Given the description of an element on the screen output the (x, y) to click on. 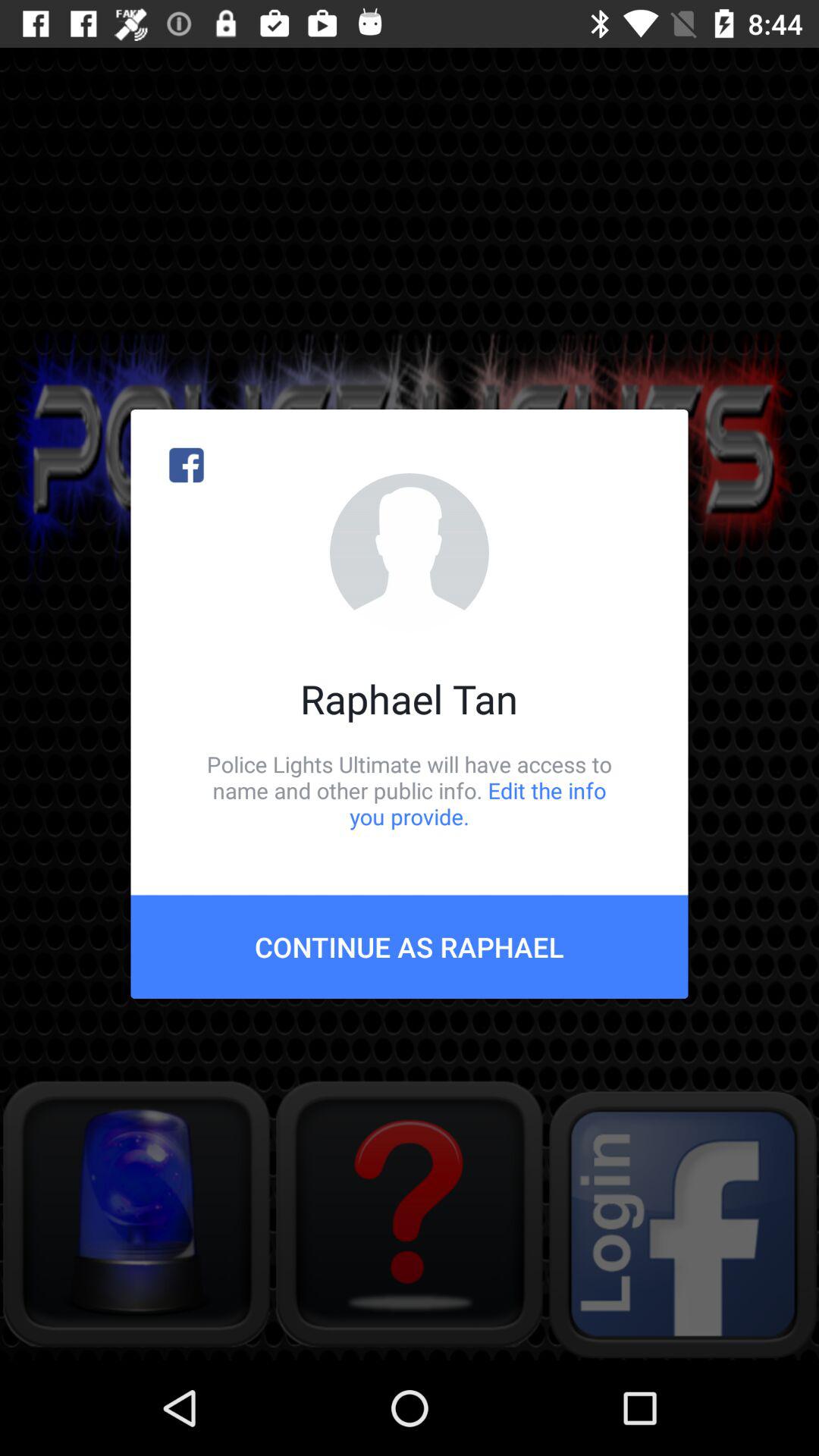
press the continue as raphael icon (409, 946)
